Given the description of an element on the screen output the (x, y) to click on. 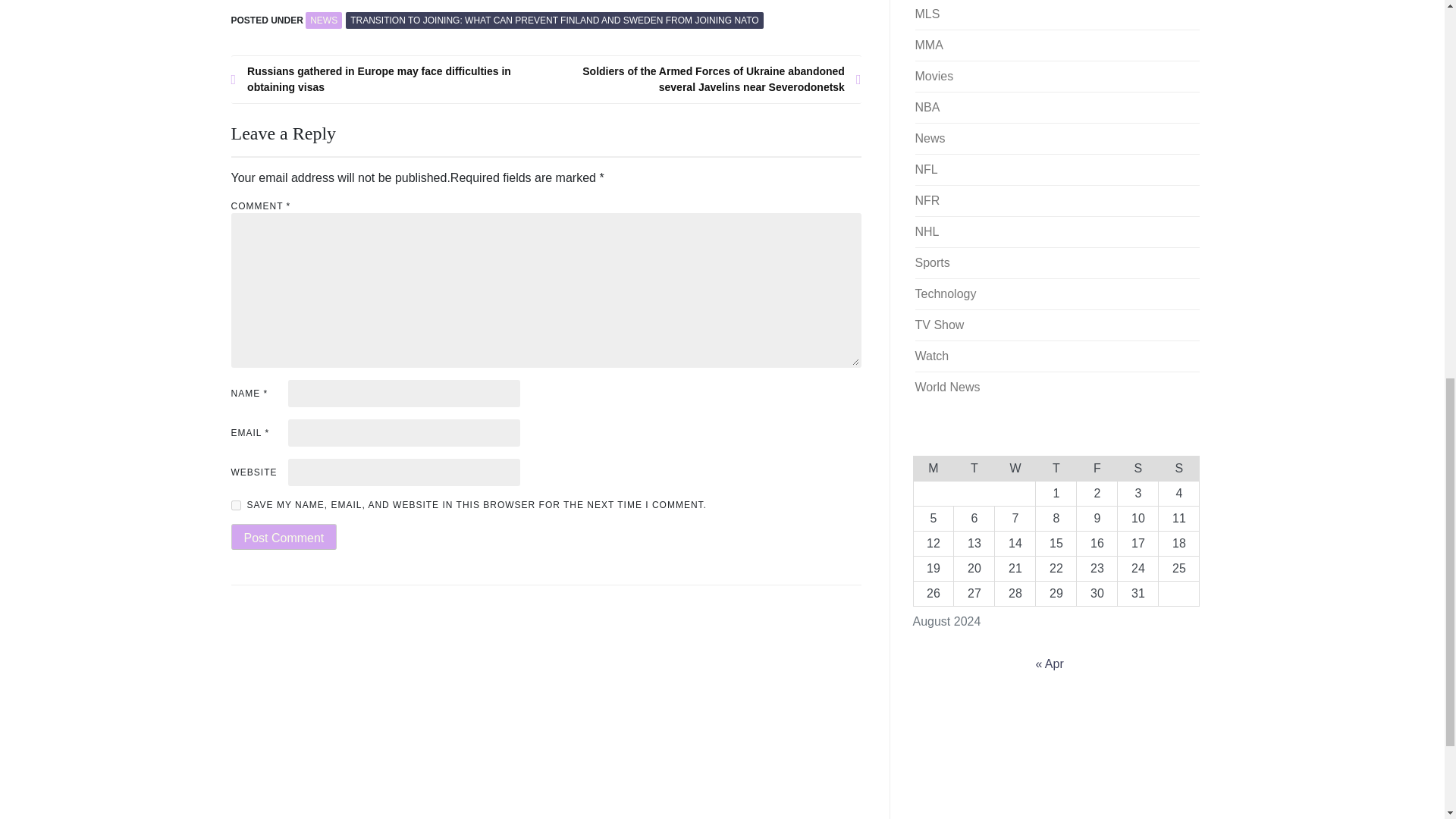
Friday (1097, 467)
NEWS (323, 20)
Thursday (1056, 467)
Sunday (1178, 467)
yes (235, 505)
Post Comment (283, 536)
Saturday (1138, 467)
Monday (932, 467)
